Given the description of an element on the screen output the (x, y) to click on. 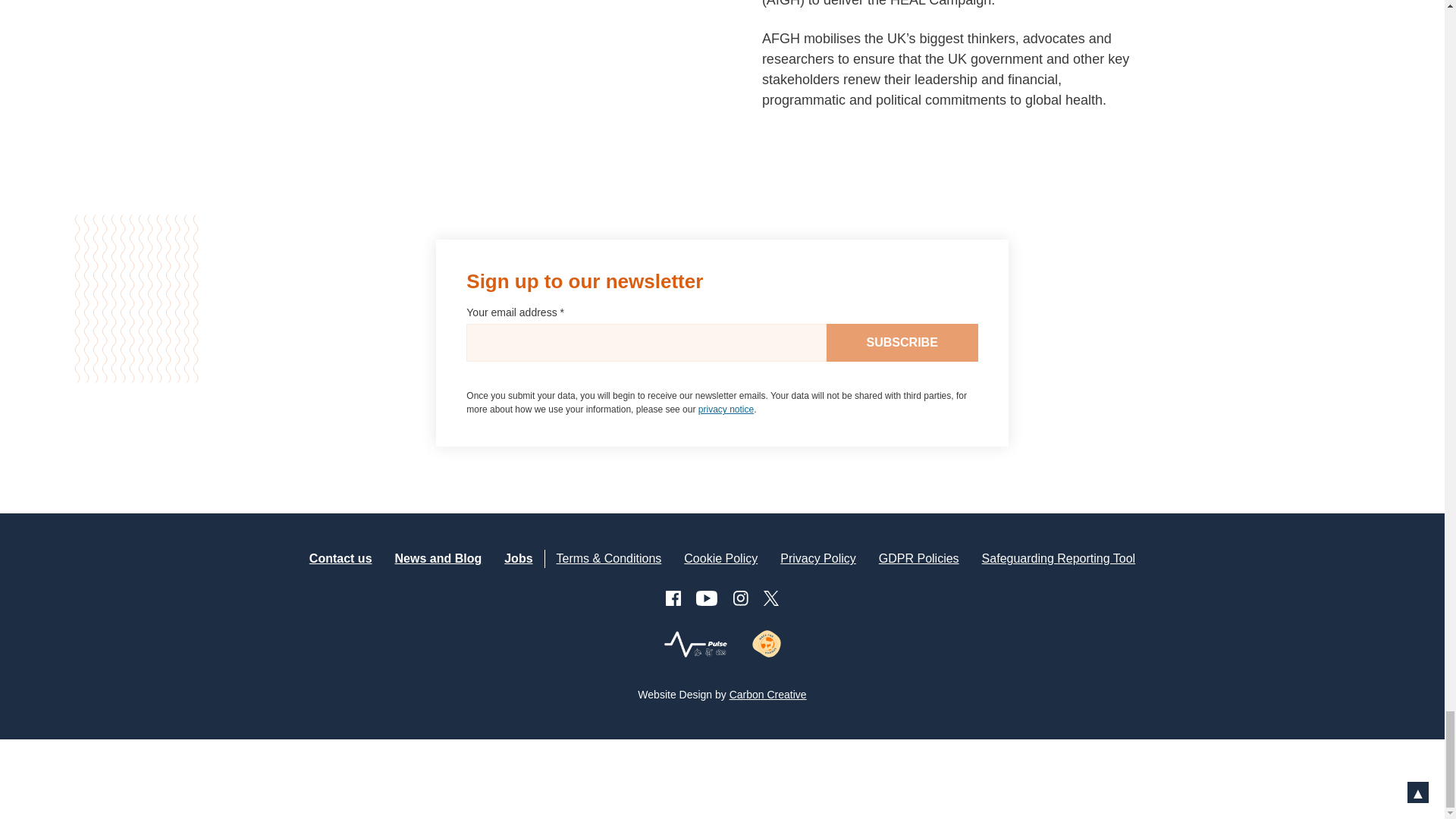
Subscribe (902, 342)
